Given the description of an element on the screen output the (x, y) to click on. 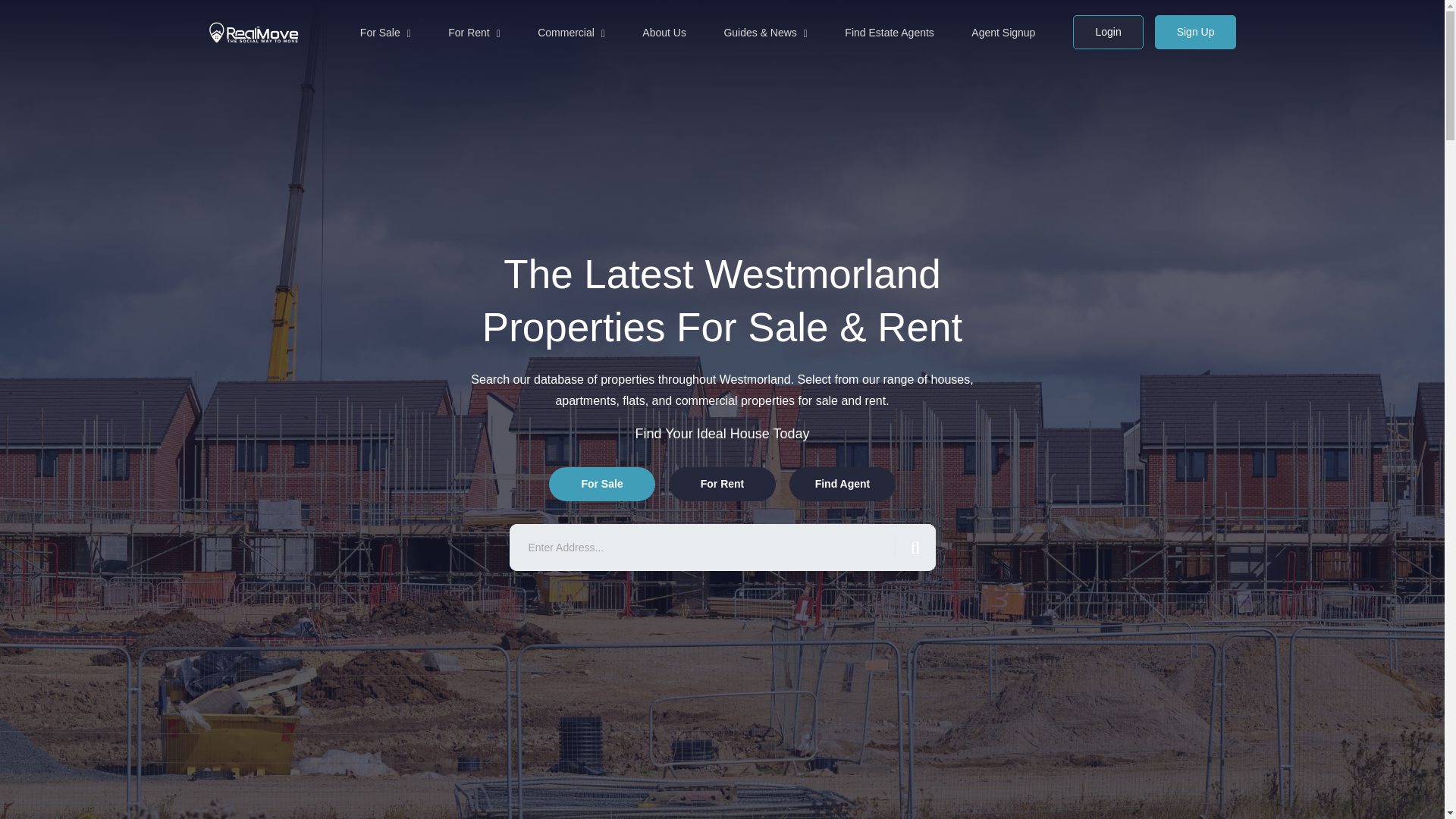
Login (1107, 32)
Find Estate Agents (889, 32)
Sign Up (1195, 32)
For Sale (384, 32)
For Rent (473, 32)
About Us (663, 32)
Commercial (571, 32)
Agent Signup (1003, 32)
